Given the description of an element on the screen output the (x, y) to click on. 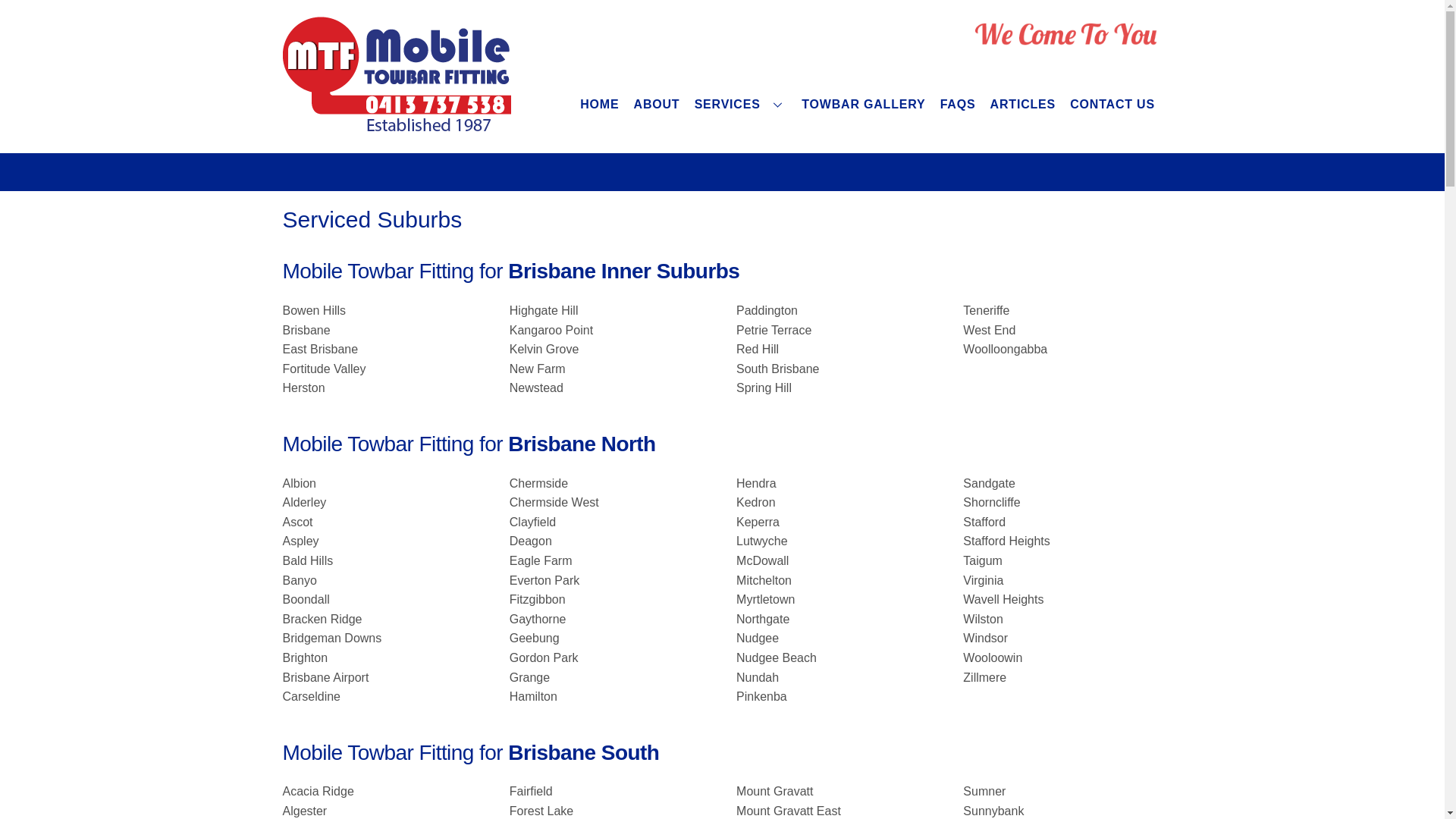
TOWBAR GALLERY Element type: text (863, 104)
Mobile Towbar Fitting Element type: hover (396, 129)
HOME Element type: text (599, 104)
CONTACT US Element type: text (1112, 104)
Mobile Towbar Fitting- We Come To You Element type: hover (1066, 35)
Mobile Towbar Fitting Element type: hover (396, 76)
ARTICLES Element type: text (1022, 104)
SERVICES Element type: text (740, 104)
ABOUT Element type: text (656, 104)
FAQS Element type: text (957, 104)
